Given the description of an element on the screen output the (x, y) to click on. 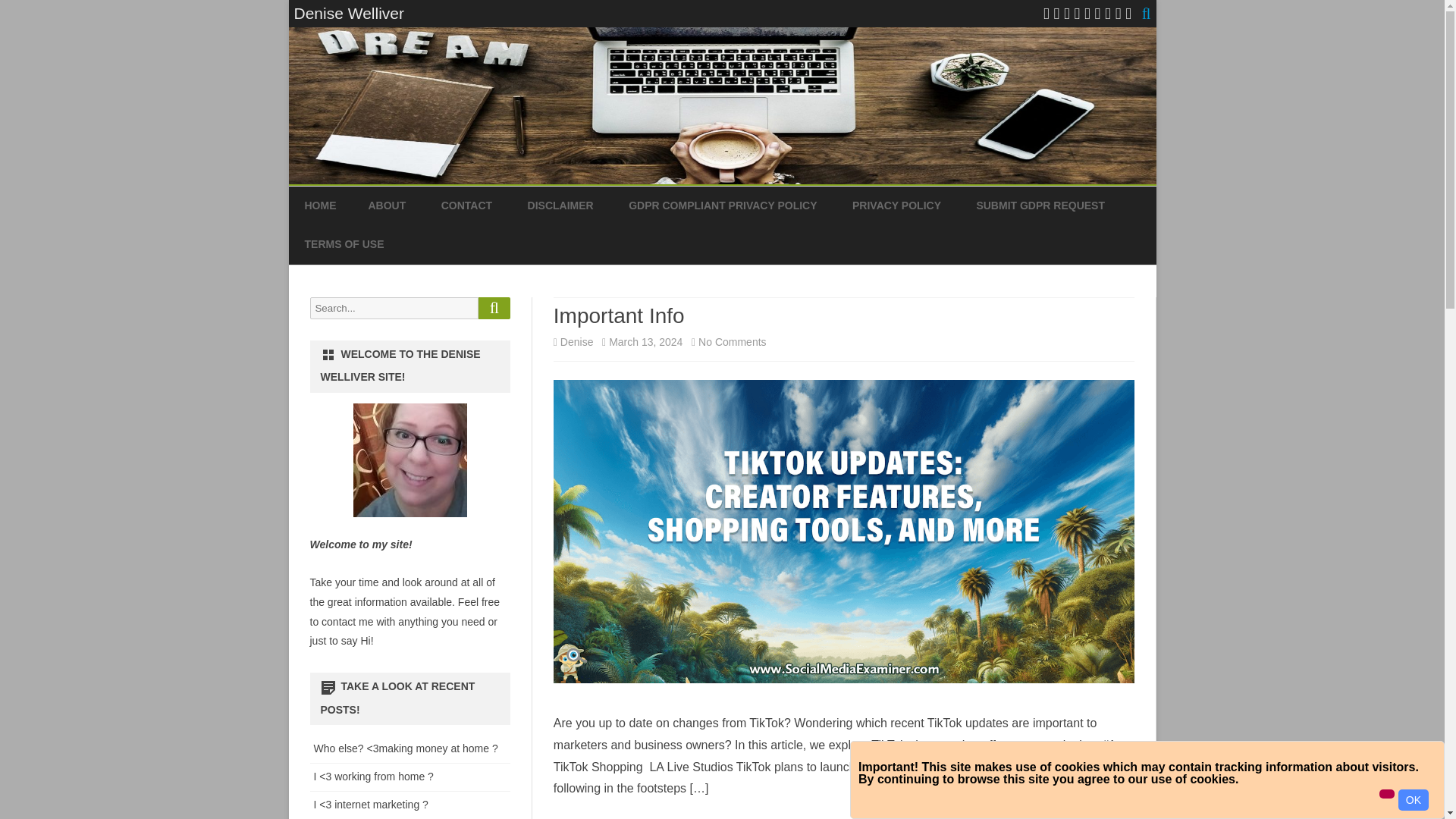
DISCLAIMER (560, 206)
CONTACT (731, 341)
ABOUT (466, 206)
Skip to content (387, 206)
TERMS OF USE (1040, 206)
Denise (344, 244)
PRIVACY POLICY (577, 341)
GDPR COMPLIANT PRIVACY POLICY (895, 206)
